Given the description of an element on the screen output the (x, y) to click on. 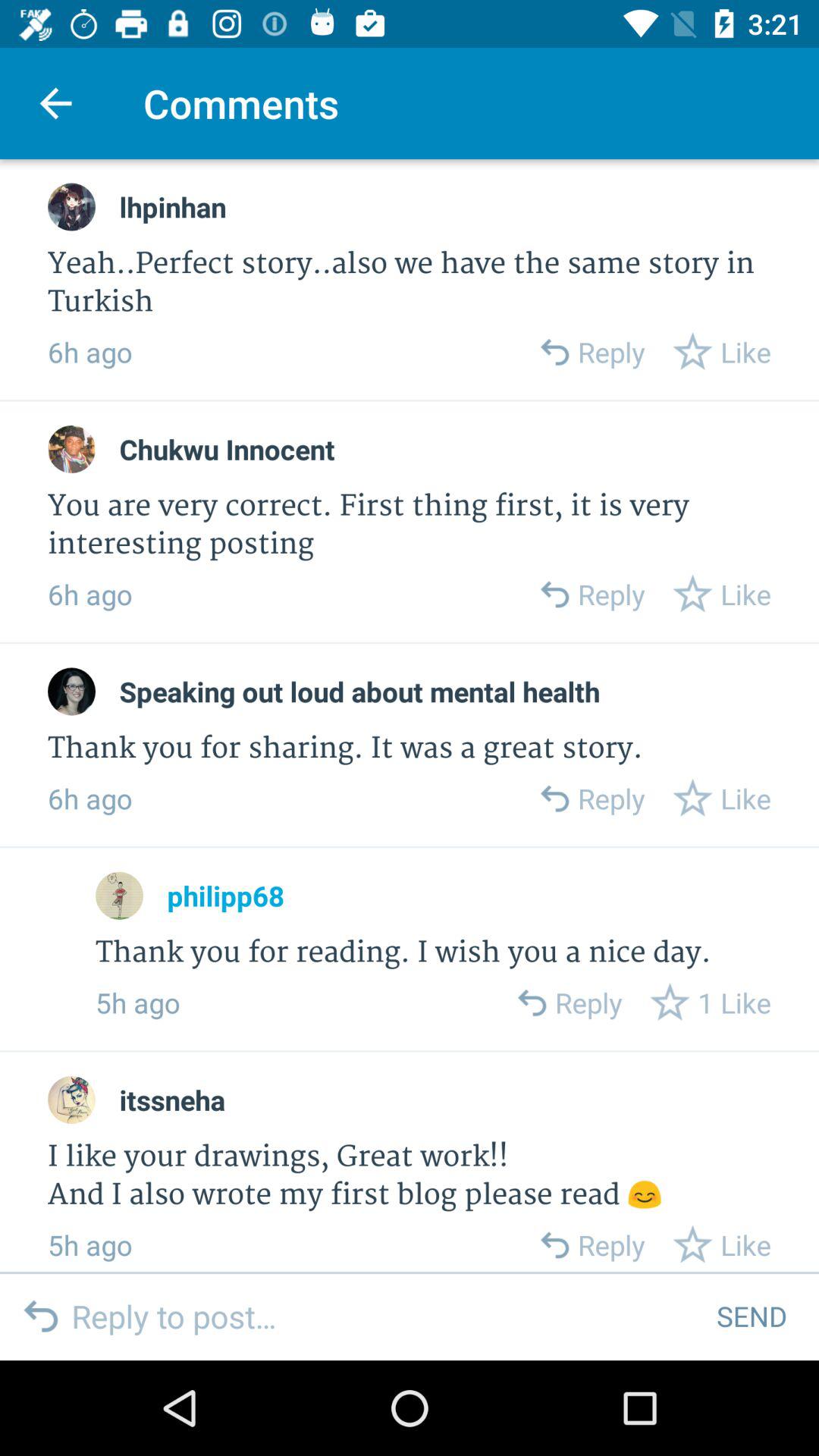
read user 's other posts (119, 895)
